Given the description of an element on the screen output the (x, y) to click on. 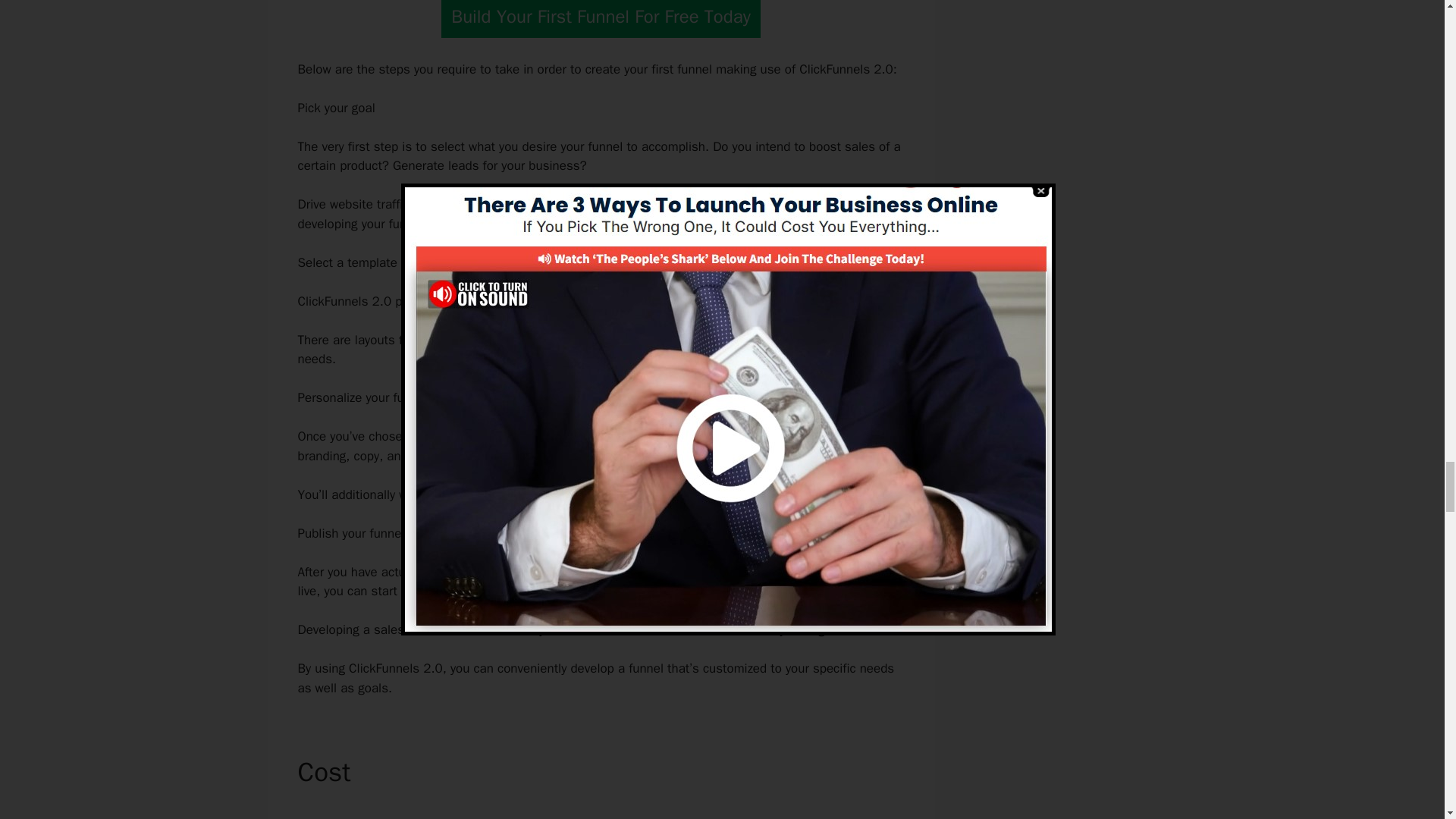
Build Your First Funnel For Free Today (600, 18)
